Given the description of an element on the screen output the (x, y) to click on. 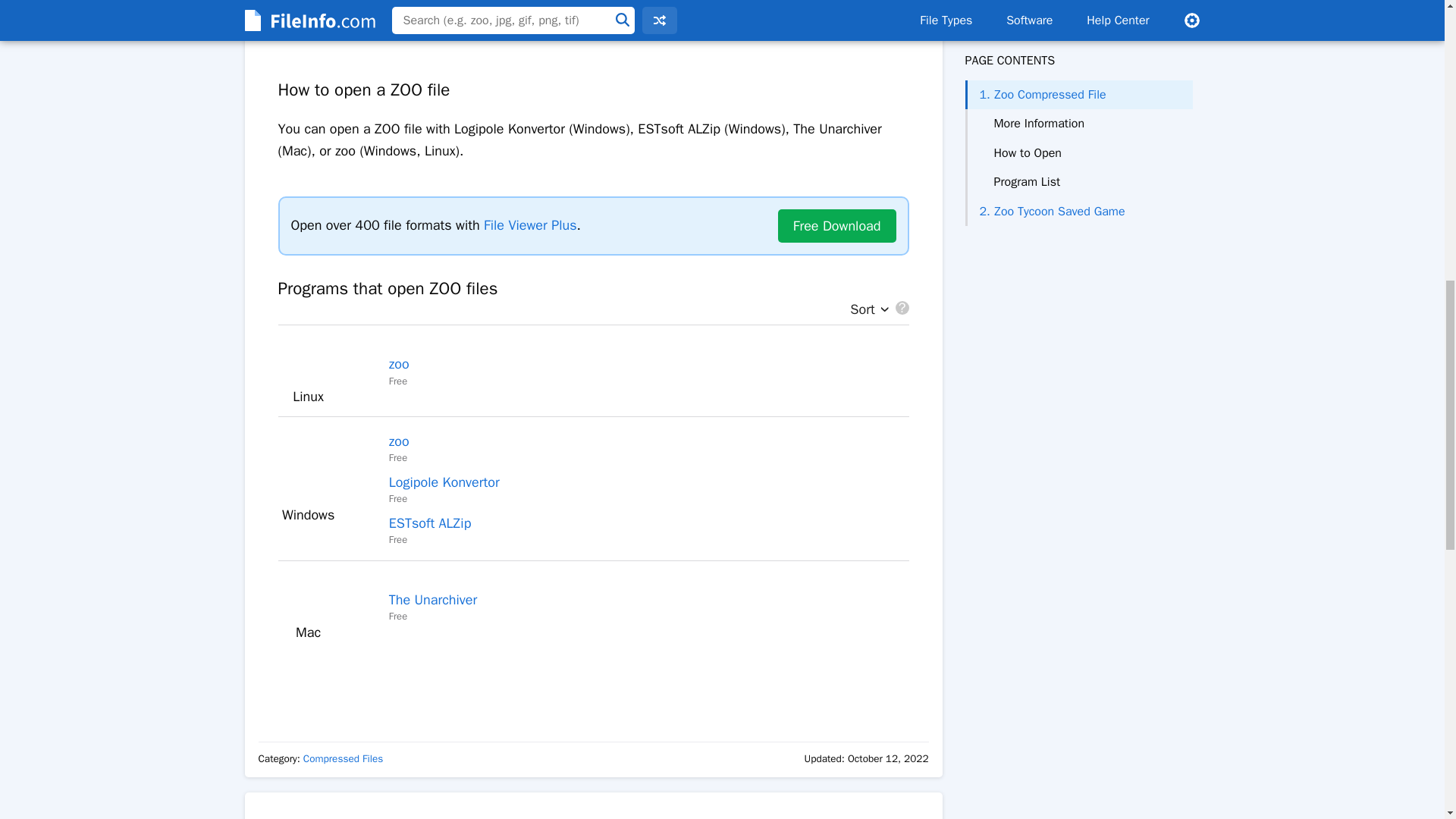
The Unarchiver (432, 599)
zoo (398, 441)
ESTsoft ALZip (429, 523)
Logipole Konvertor (443, 482)
Sort (865, 309)
zoo (398, 363)
